Given the description of an element on the screen output the (x, y) to click on. 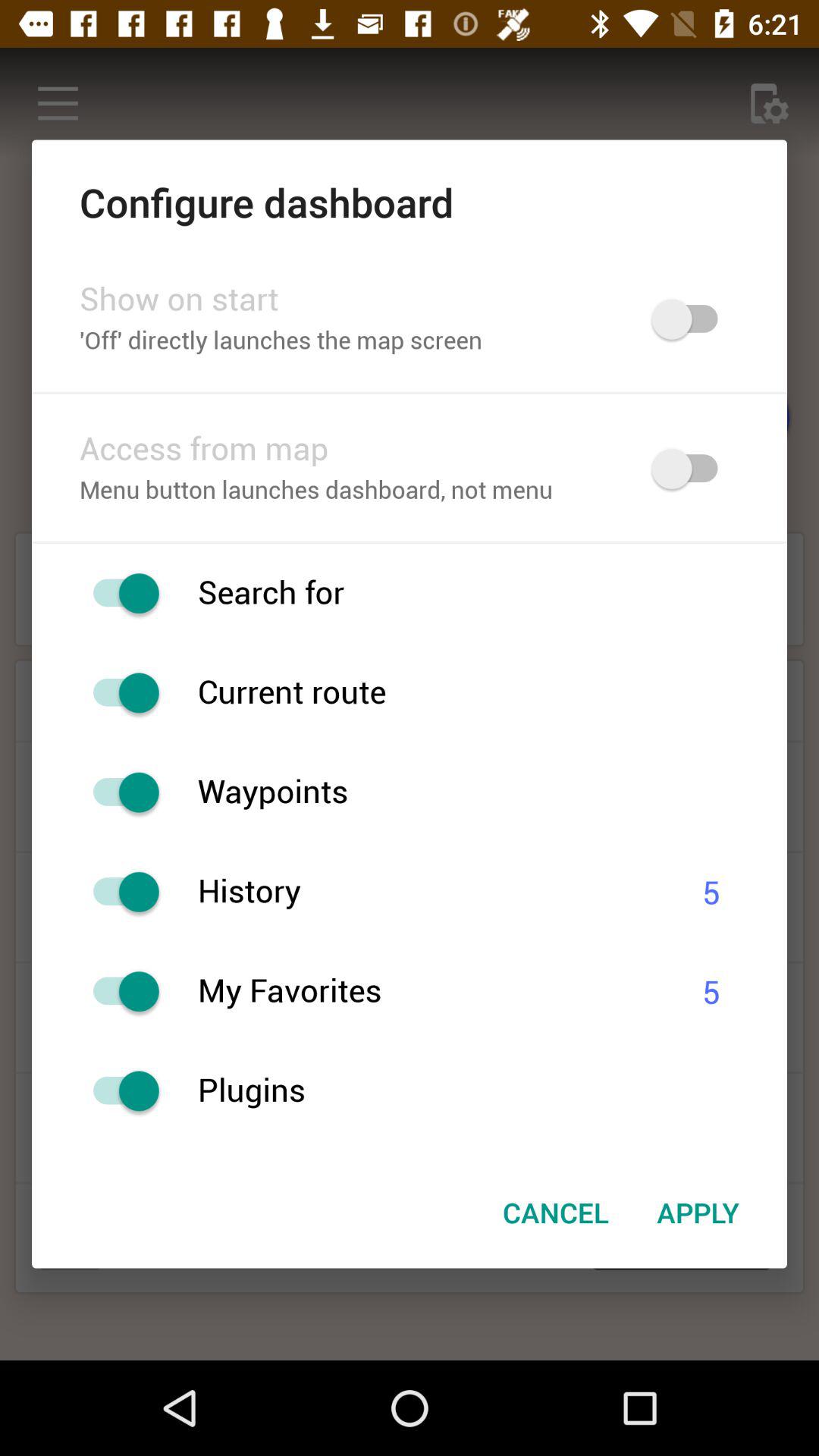
swipe until the cancel (555, 1212)
